Given the description of an element on the screen output the (x, y) to click on. 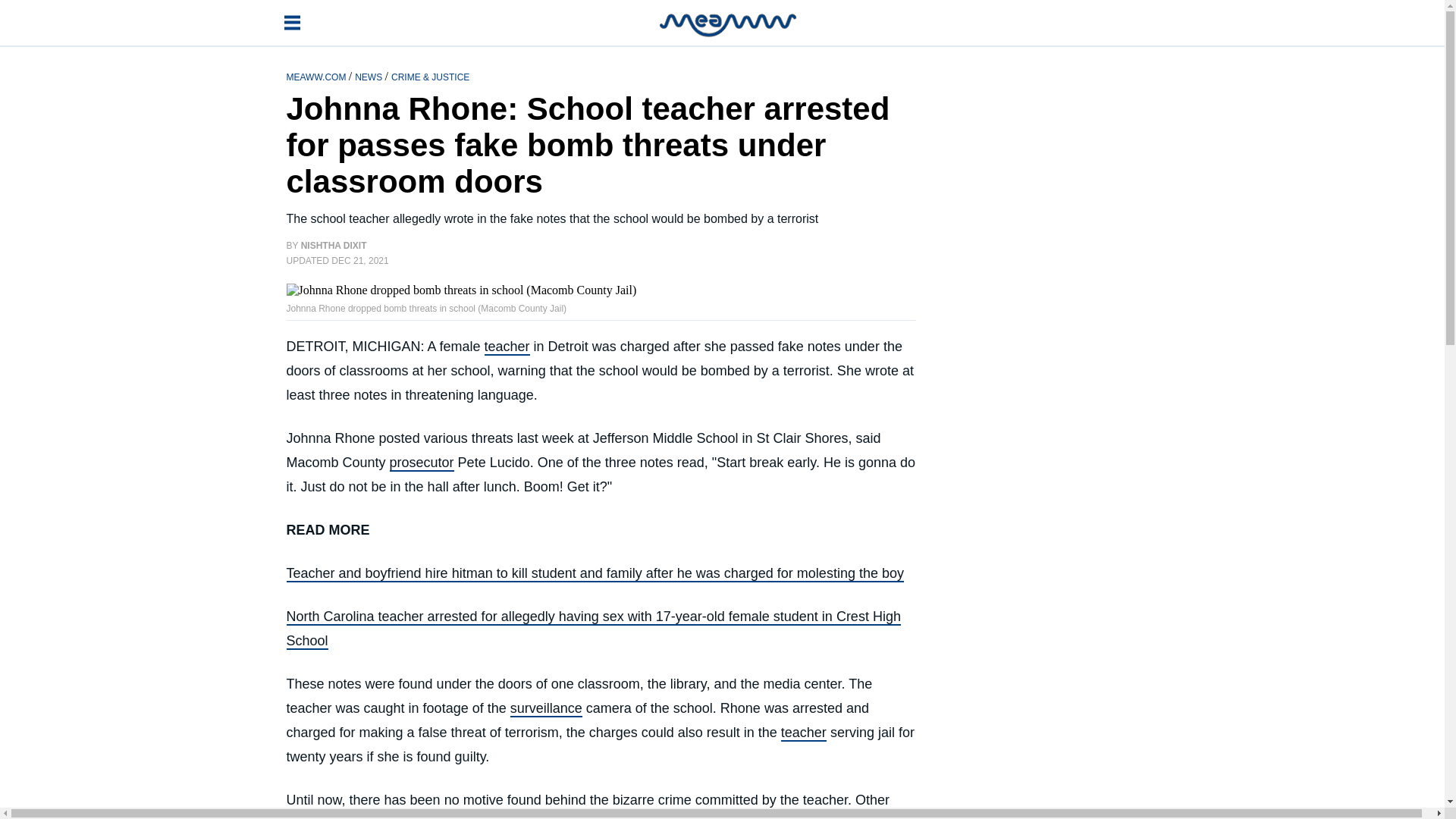
NISHTHA DIXIT (333, 245)
surveillance (546, 709)
prosecutor (422, 463)
teacher (803, 733)
NEWS (369, 75)
teacher (506, 347)
MEAWW.COM (317, 75)
